Given the description of an element on the screen output the (x, y) to click on. 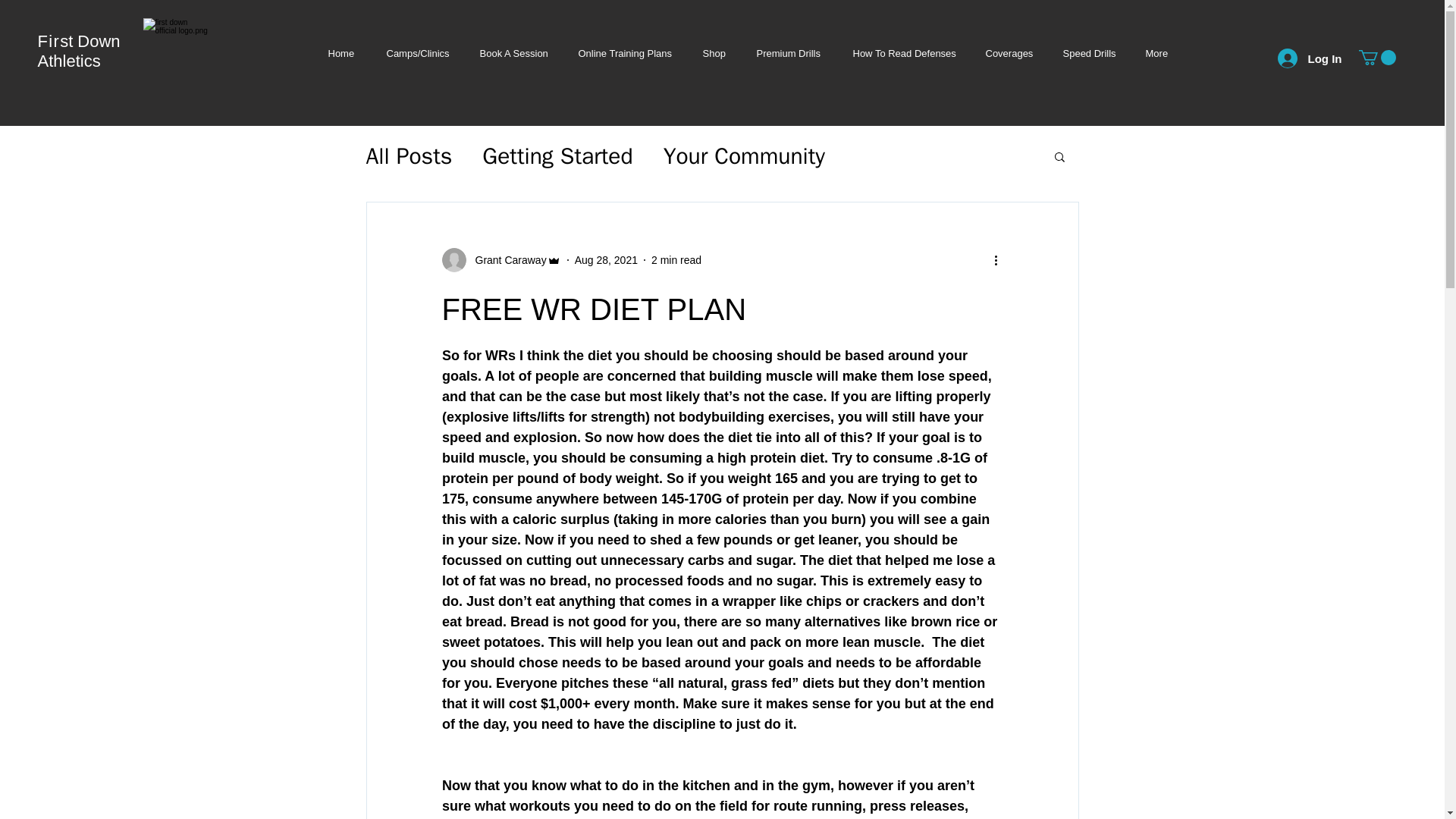
Home (342, 53)
Shop (714, 53)
Grant Caraway (505, 259)
Book A Session (513, 53)
How To Read Defenses (903, 53)
Speed Drills (1089, 53)
Aug 28, 2021 (606, 259)
Fir (49, 40)
Online Training Plans (624, 53)
Premium Drills (789, 53)
